Given the description of an element on the screen output the (x, y) to click on. 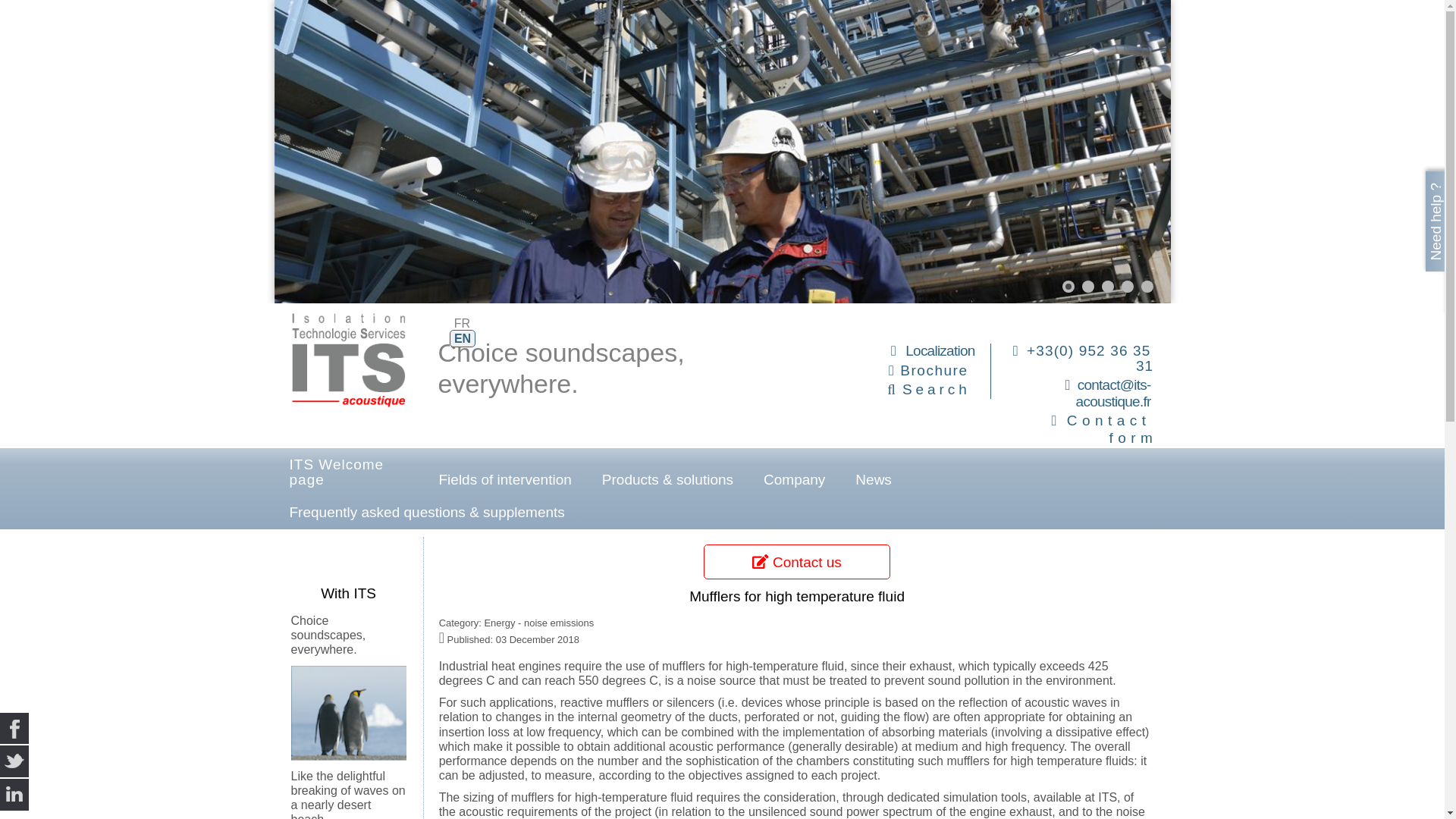
Localization (939, 350)
Contact form (1112, 428)
FR (461, 323)
Brochure (933, 370)
Fields of intervention (504, 479)
EN (462, 338)
Company (794, 479)
News (873, 479)
ITS Welcome page (349, 471)
Search (927, 389)
